Given the description of an element on the screen output the (x, y) to click on. 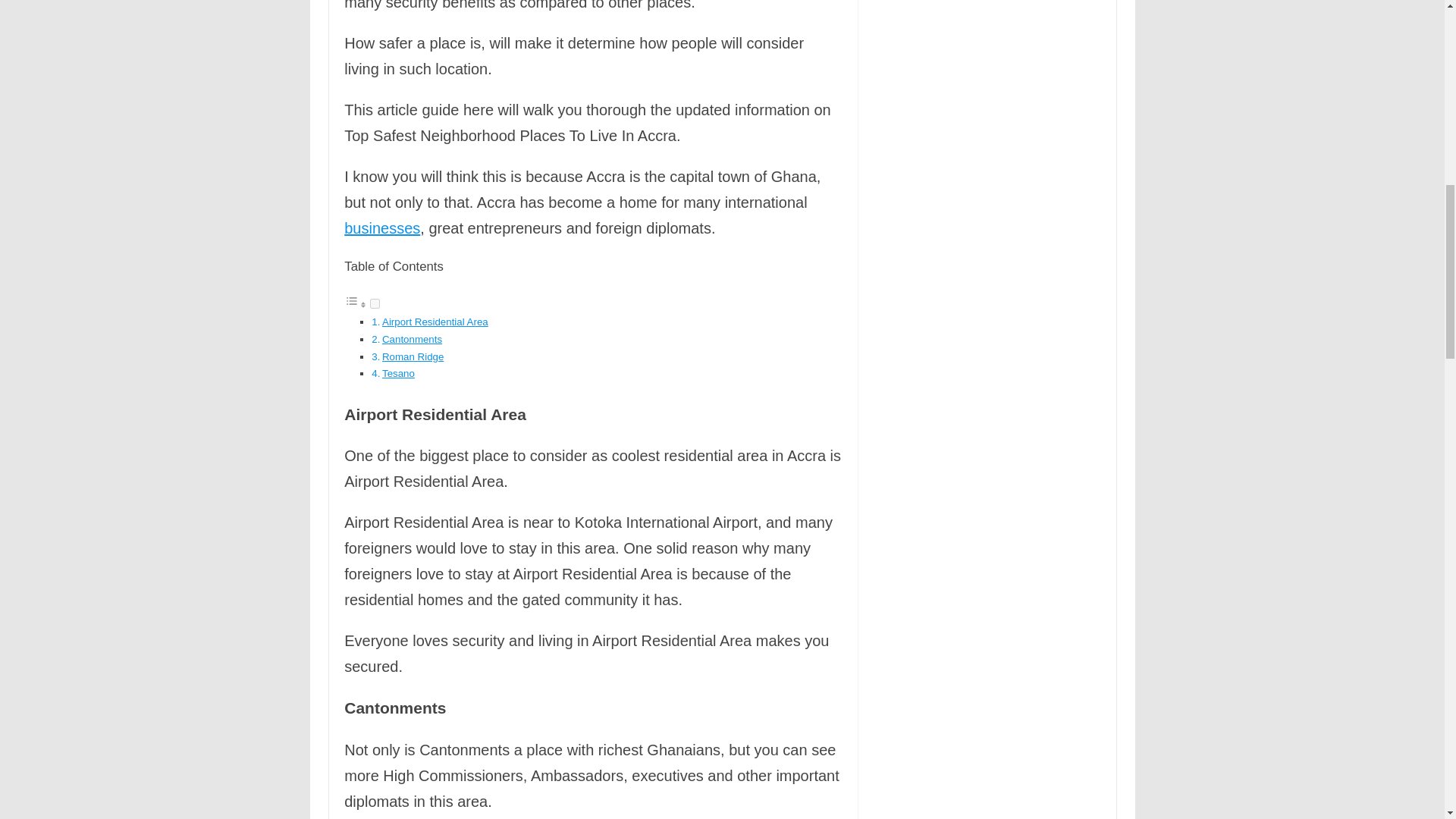
Airport Residential Area (434, 321)
businesses (381, 228)
Tesano (397, 373)
Roman Ridge (412, 356)
Tesano (397, 373)
on (374, 303)
Cantonments (411, 338)
Cantonments (411, 338)
Roman Ridge (412, 356)
Airport Residential Area (434, 321)
